Given the description of an element on the screen output the (x, y) to click on. 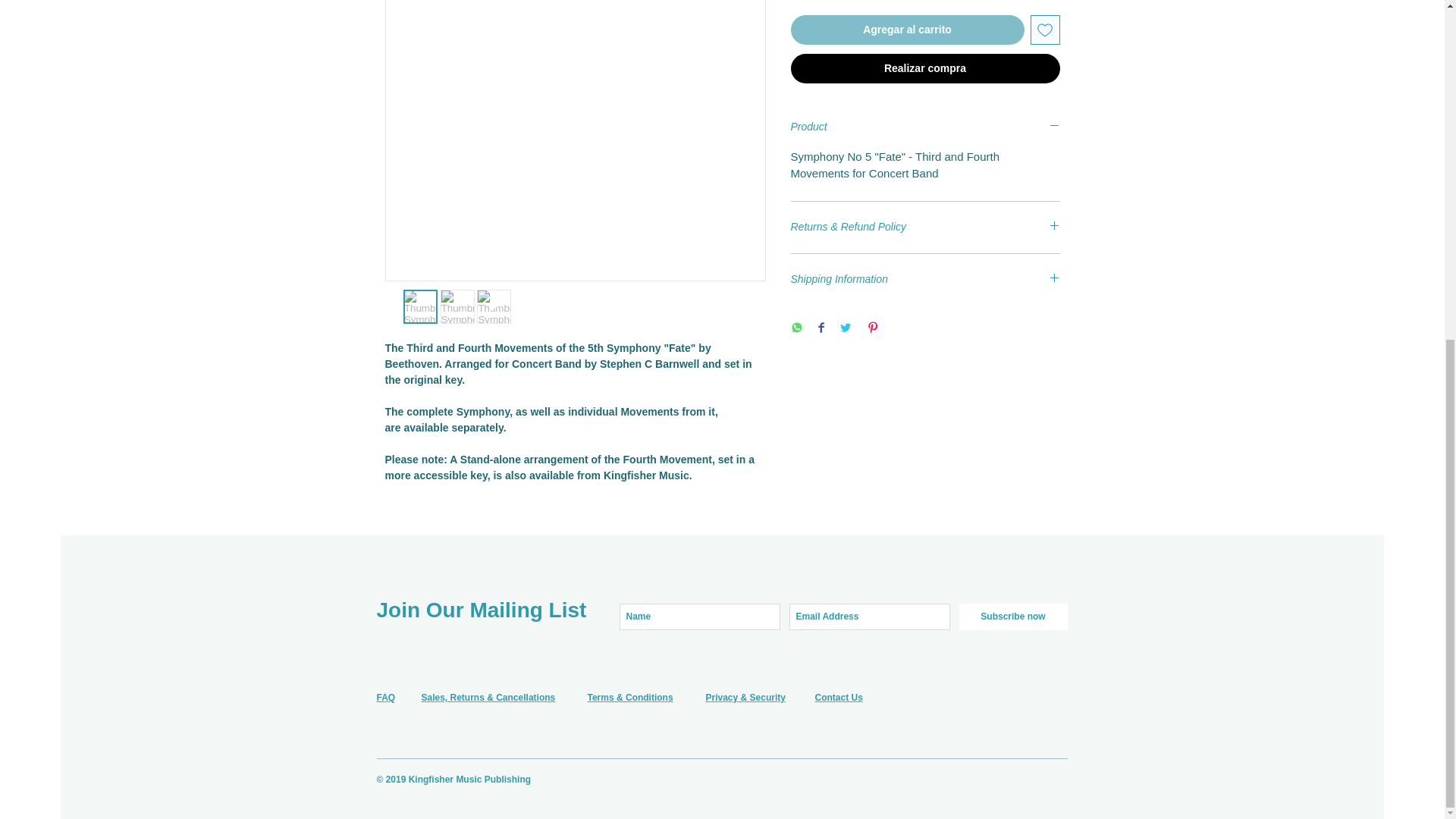
Product (924, 127)
Shipping Information (924, 279)
Agregar al carrito (906, 30)
Realizar compra (924, 69)
